Given the description of an element on the screen output the (x, y) to click on. 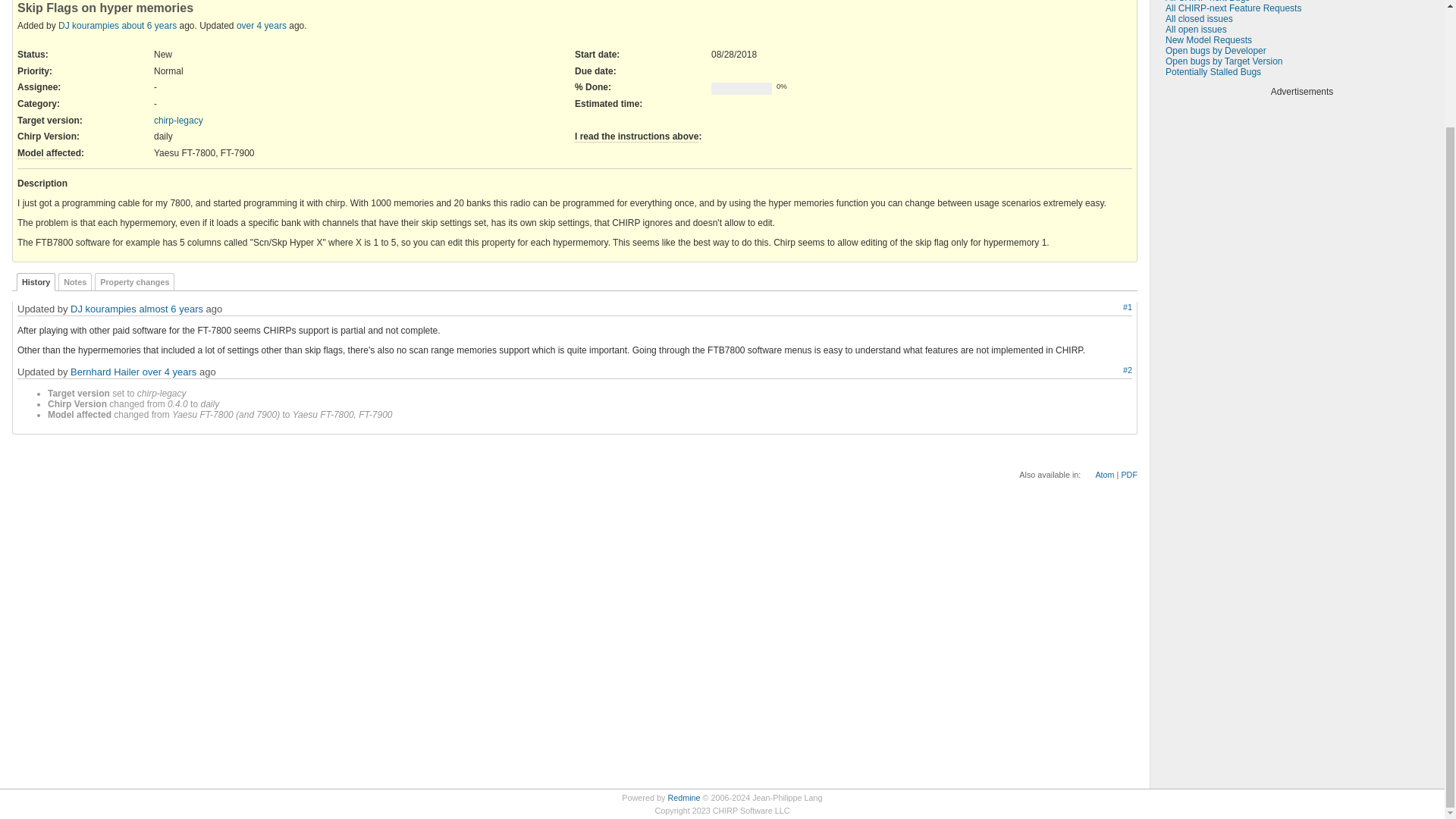
Notes (74, 281)
New Model Requests (1209, 40)
Actions (1110, 370)
over 4 years (260, 25)
DJ kourampies (88, 25)
about 6 years (148, 25)
All CHIRP-next Feature Requests (1233, 8)
Actions (1110, 307)
All closed issues (1199, 18)
All open issues (1196, 29)
